Given the description of an element on the screen output the (x, y) to click on. 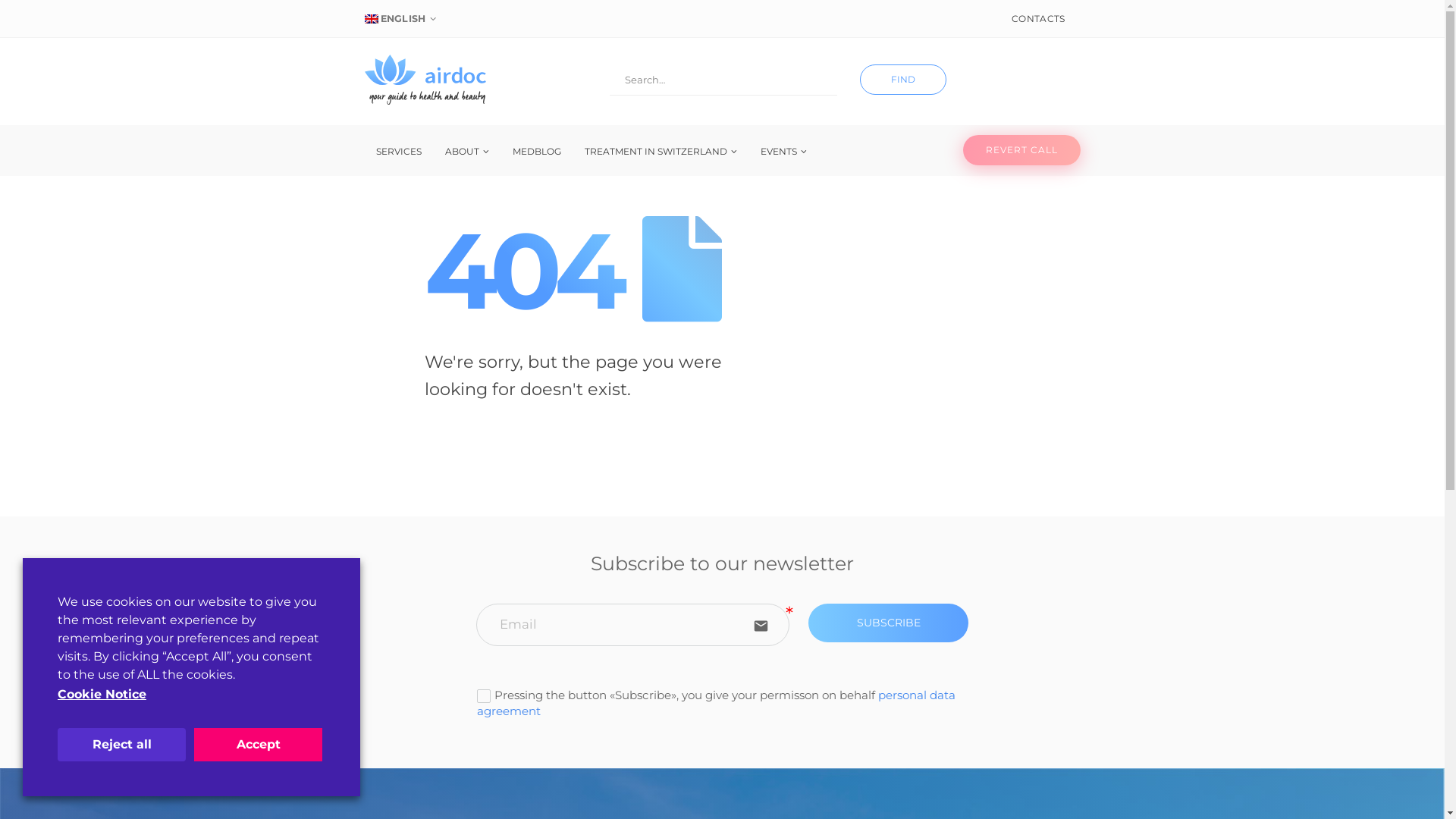
SERVICES Element type: text (398, 151)
SUBSCRIBE Element type: text (888, 622)
personal data agreement Element type: text (715, 702)
Cookie Notice Element type: text (101, 694)
ABOUT Element type: text (466, 151)
ENGLISH Element type: text (401, 18)
Reject all Element type: text (121, 744)
Accept Element type: text (258, 744)
REVERT CALL Element type: text (1021, 149)
TREATMENT IN SWITZERLAND Element type: text (660, 151)
CONTACTS Element type: text (1037, 18)
EVENTS Element type: text (783, 151)
FIND Element type: text (902, 79)
MEDBLOG Element type: text (535, 151)
